Given the description of an element on the screen output the (x, y) to click on. 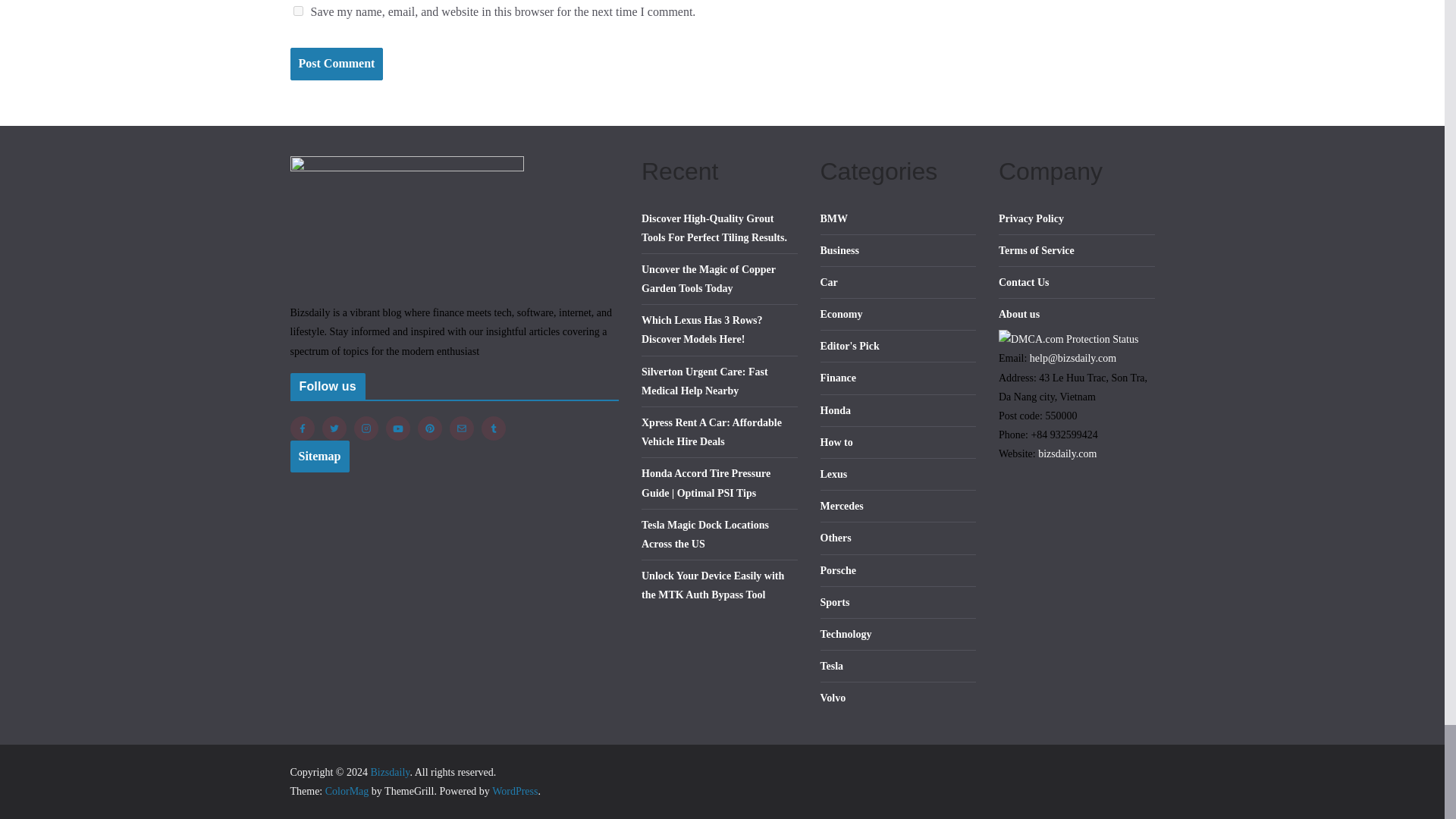
Post Comment (335, 63)
yes (297, 10)
